Given the description of an element on the screen output the (x, y) to click on. 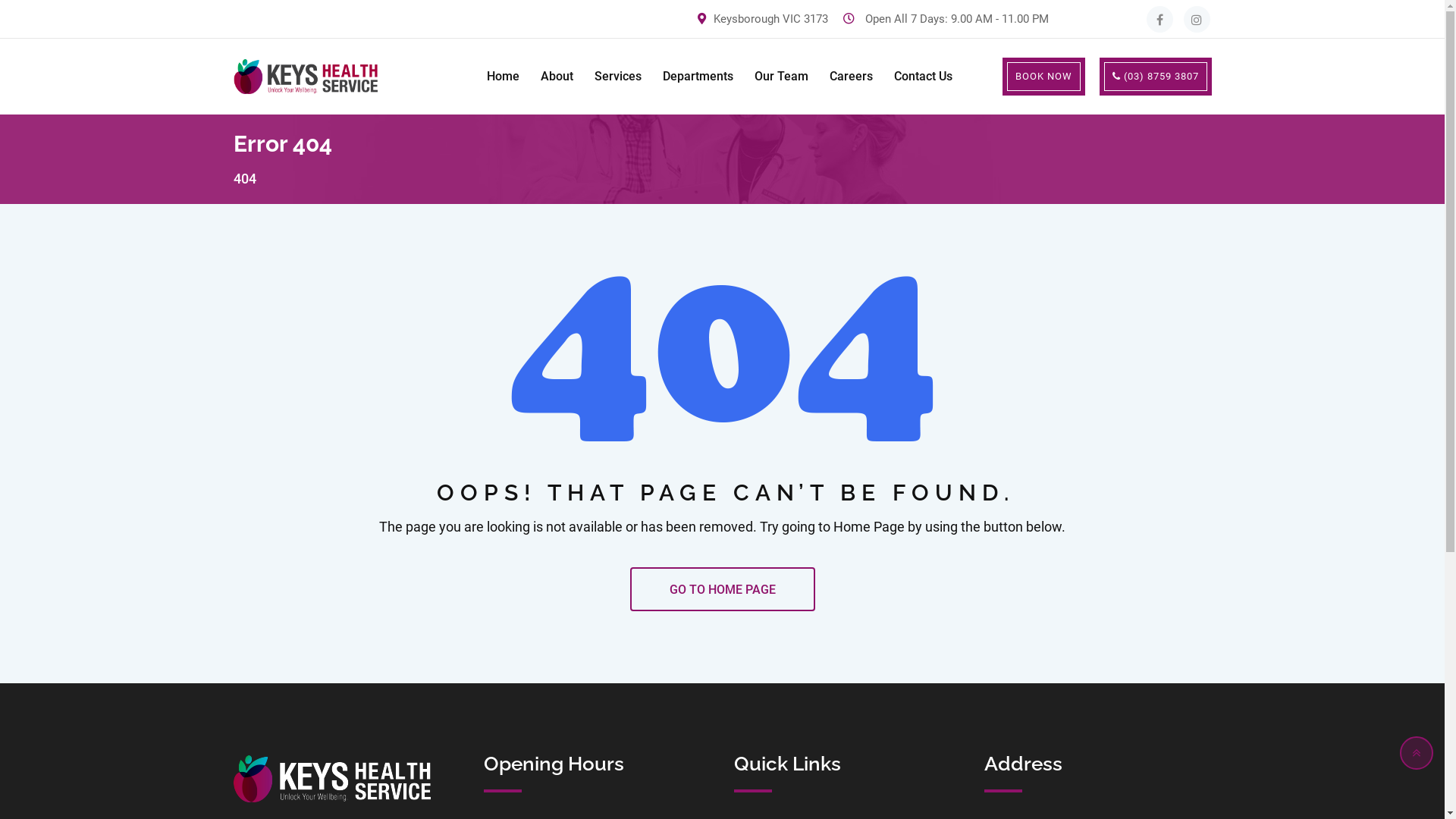
Services Element type: text (617, 76)
Careers Element type: text (850, 76)
Our Team Element type: text (780, 76)
Departments Element type: text (697, 76)
(03) 8759 3807 Element type: text (1155, 76)
GO TO HOME PAGE Element type: text (721, 589)
BOOK NOW Element type: text (1043, 76)
Home Element type: text (502, 76)
Contact Us Element type: text (922, 76)
About Element type: text (555, 76)
Keysborough VIC 3173 Element type: text (769, 18)
